Given the description of an element on the screen output the (x, y) to click on. 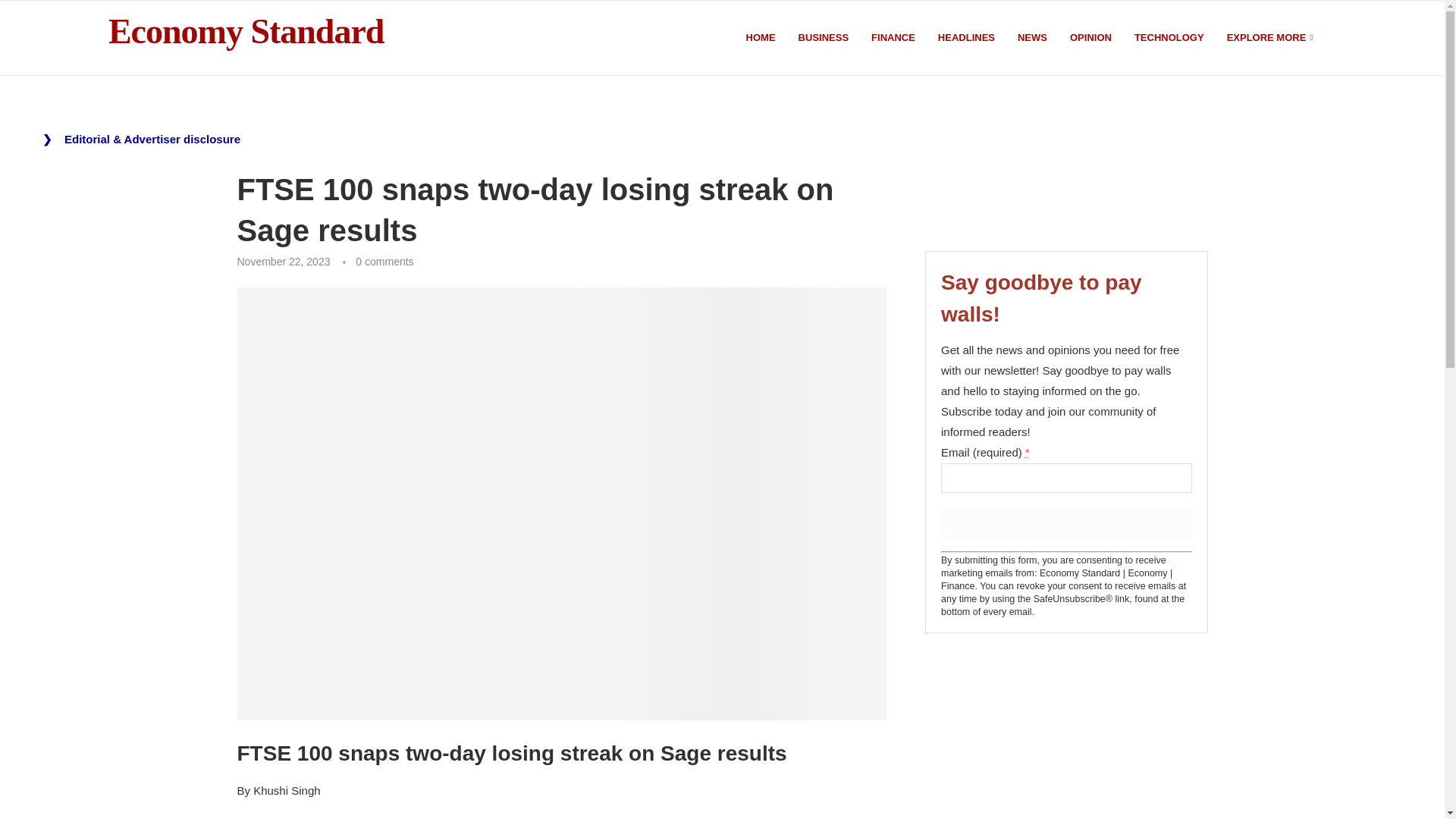
Sign up! (1065, 522)
TECHNOLOGY (1169, 38)
Sign up! (1065, 522)
Economy Standard (245, 31)
EXPLORE MORE (1270, 38)
